Given the description of an element on the screen output the (x, y) to click on. 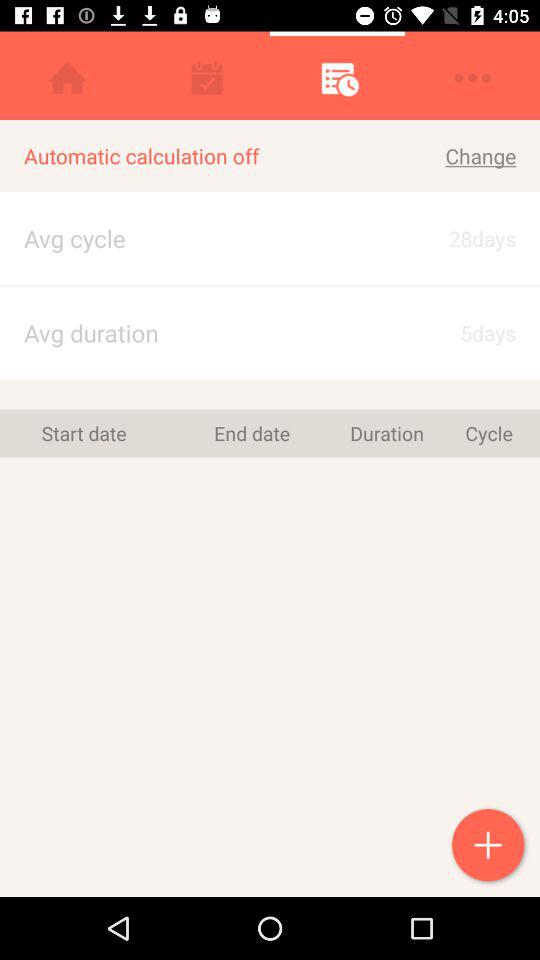
launch the item next to end date app (84, 433)
